Given the description of an element on the screen output the (x, y) to click on. 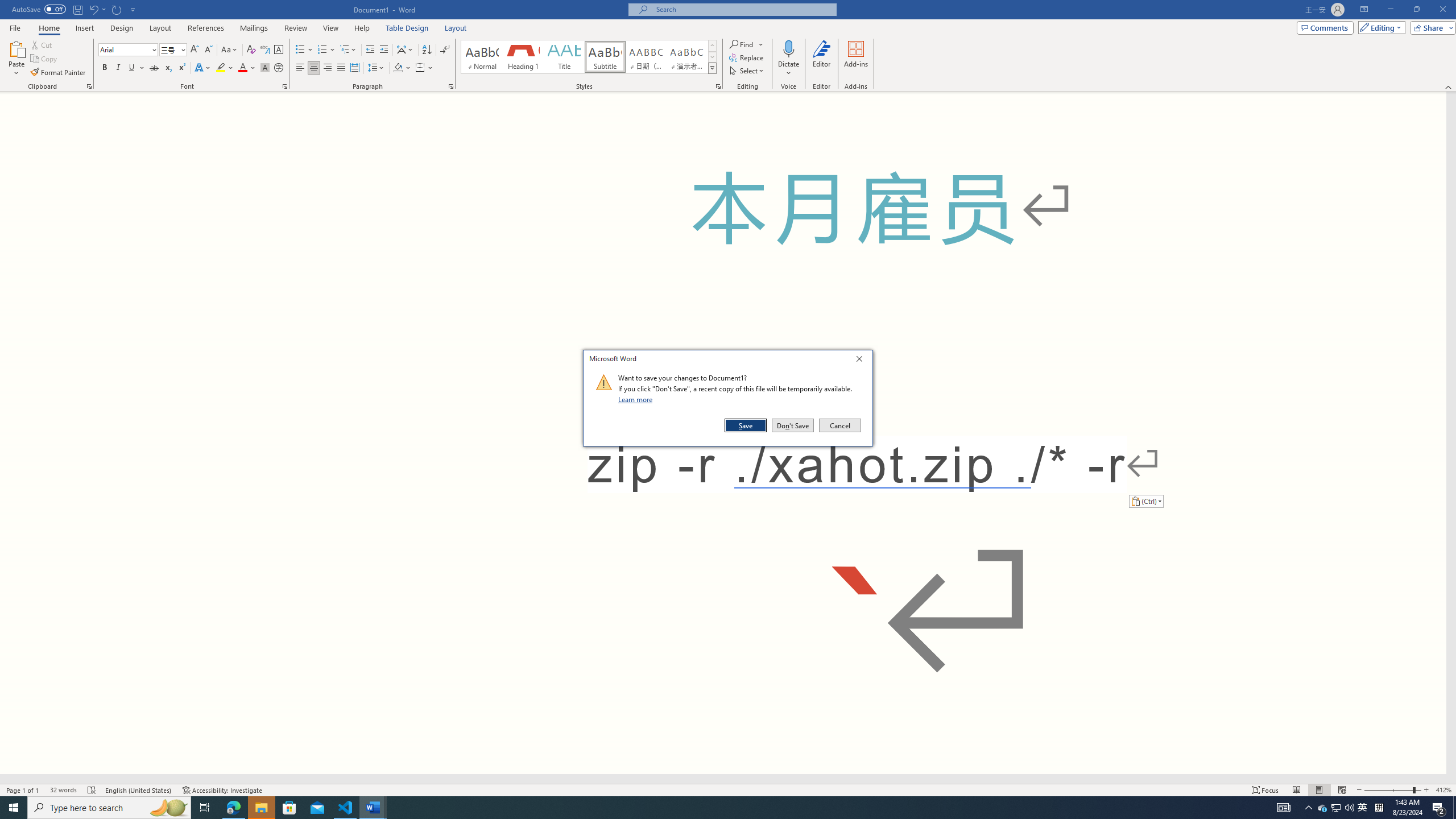
Bold (104, 67)
Sort... (426, 49)
Microsoft search (742, 9)
Replace... (747, 56)
Microsoft Edge - 1 running window (233, 807)
Q2790: 100% (1349, 807)
Text Highlight Color (224, 67)
Office Clipboard... (88, 85)
Increase Indent (383, 49)
Strikethrough (154, 67)
Open (182, 49)
Format Painter (58, 72)
Phonetic Guide... (264, 49)
